Given the description of an element on the screen output the (x, y) to click on. 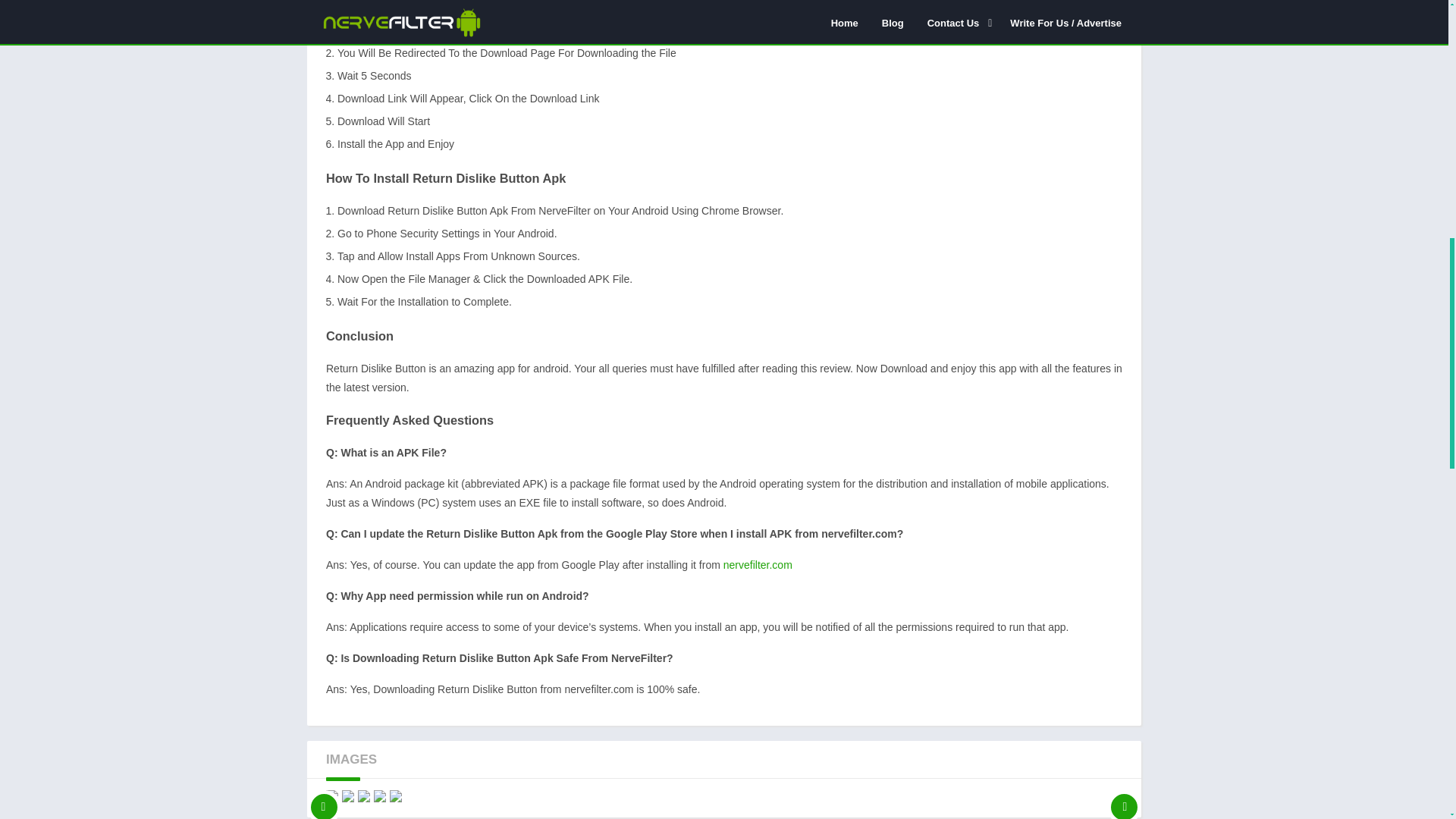
Next (1123, 796)
nervefilter.com (757, 564)
Previous (323, 796)
